Given the description of an element on the screen output the (x, y) to click on. 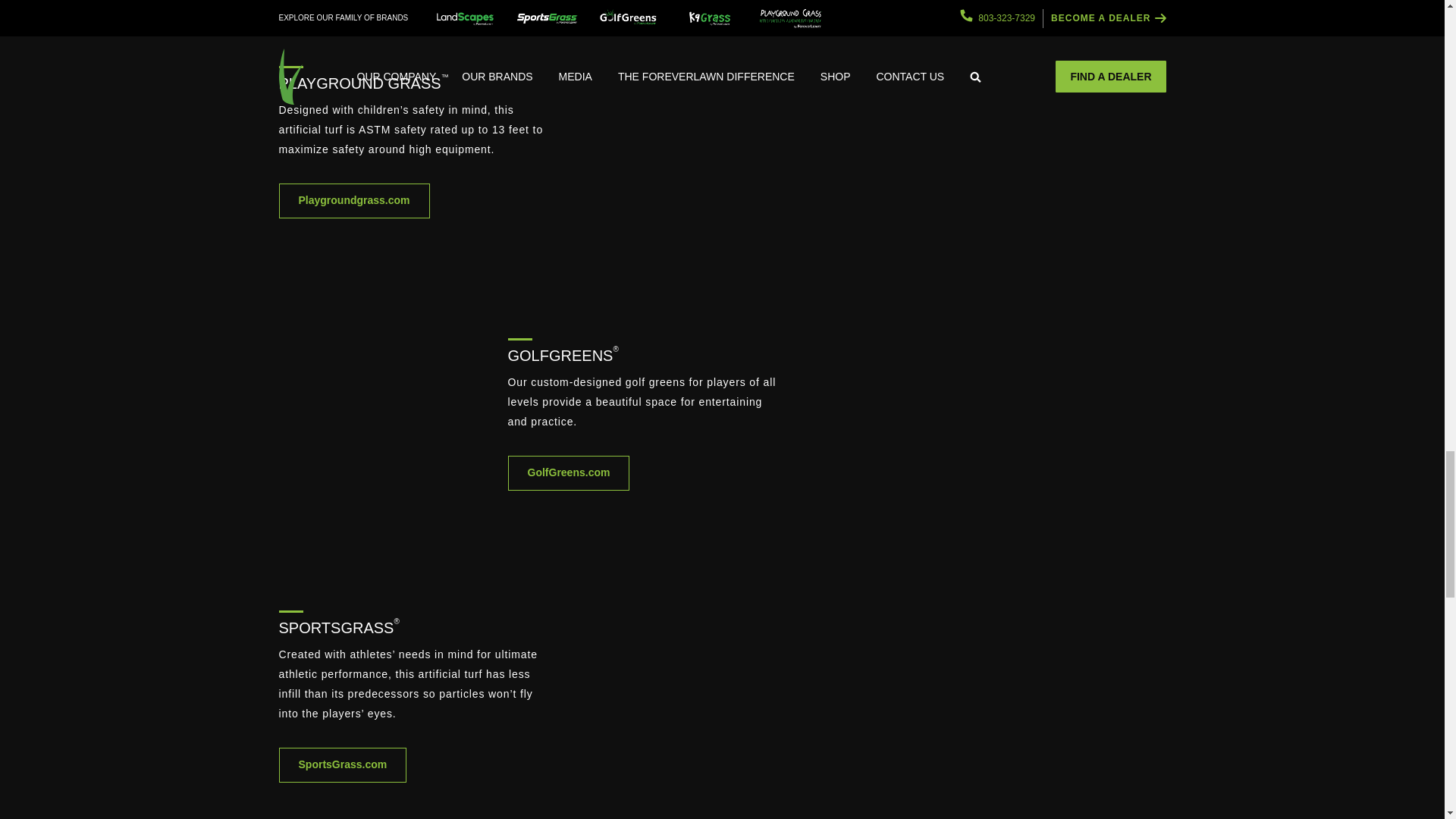
Playgroundgrass.com (354, 200)
SportsGrass.com (343, 764)
GolfGreens.com (569, 472)
